Given the description of an element on the screen output the (x, y) to click on. 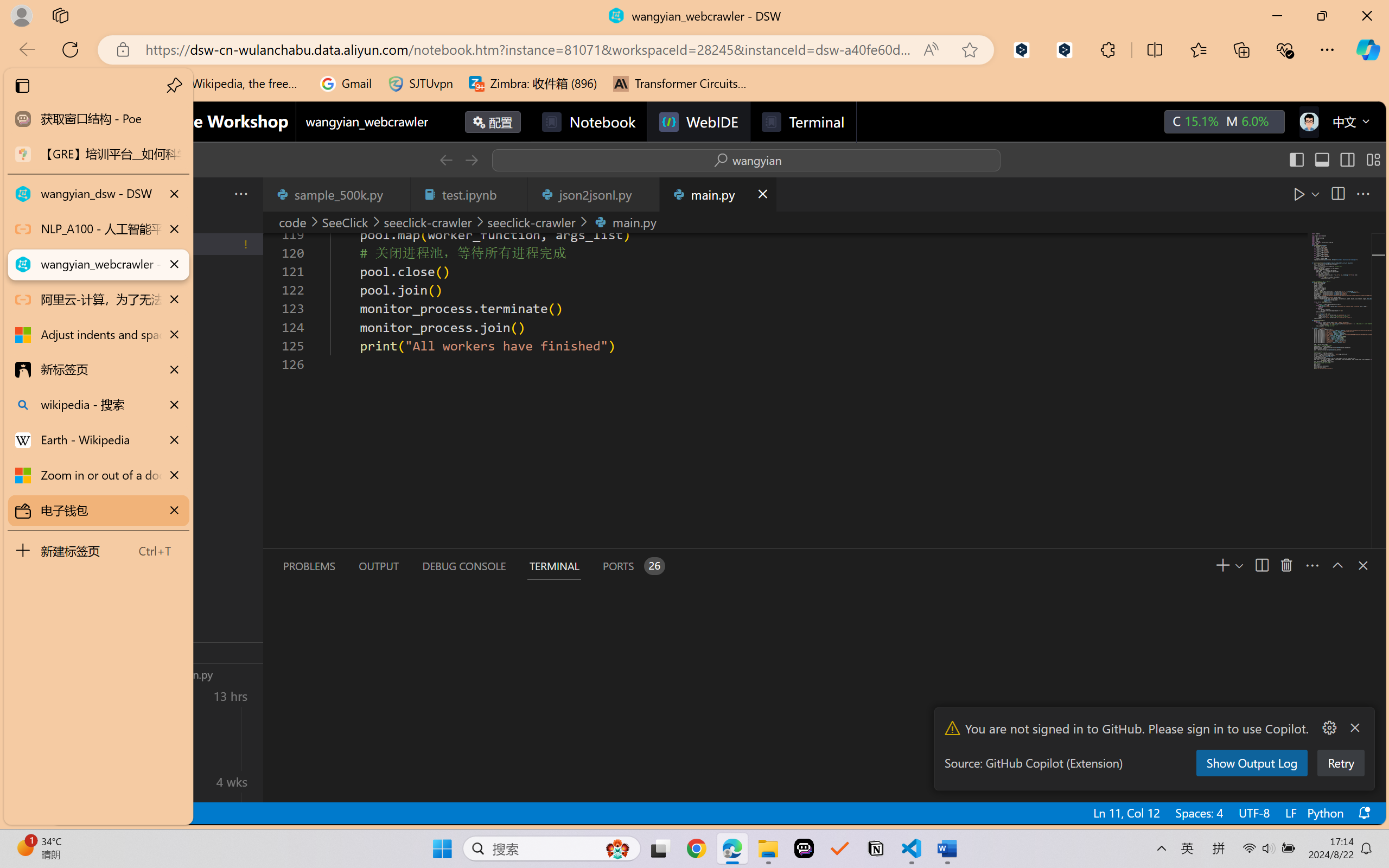
Title actions (1333, 159)
icon (1308, 121)
LF (1290, 812)
Outline Section (179, 652)
More Actions... (1328, 727)
Source Control (Ctrl+Shift+G) (73, 328)
Terminal (Ctrl+`) (553, 565)
Close (Ctrl+F4) (761, 194)
Run Python File (1298, 193)
Close Panel (1362, 565)
Problems (Ctrl+Shift+M) (308, 565)
